Given the description of an element on the screen output the (x, y) to click on. 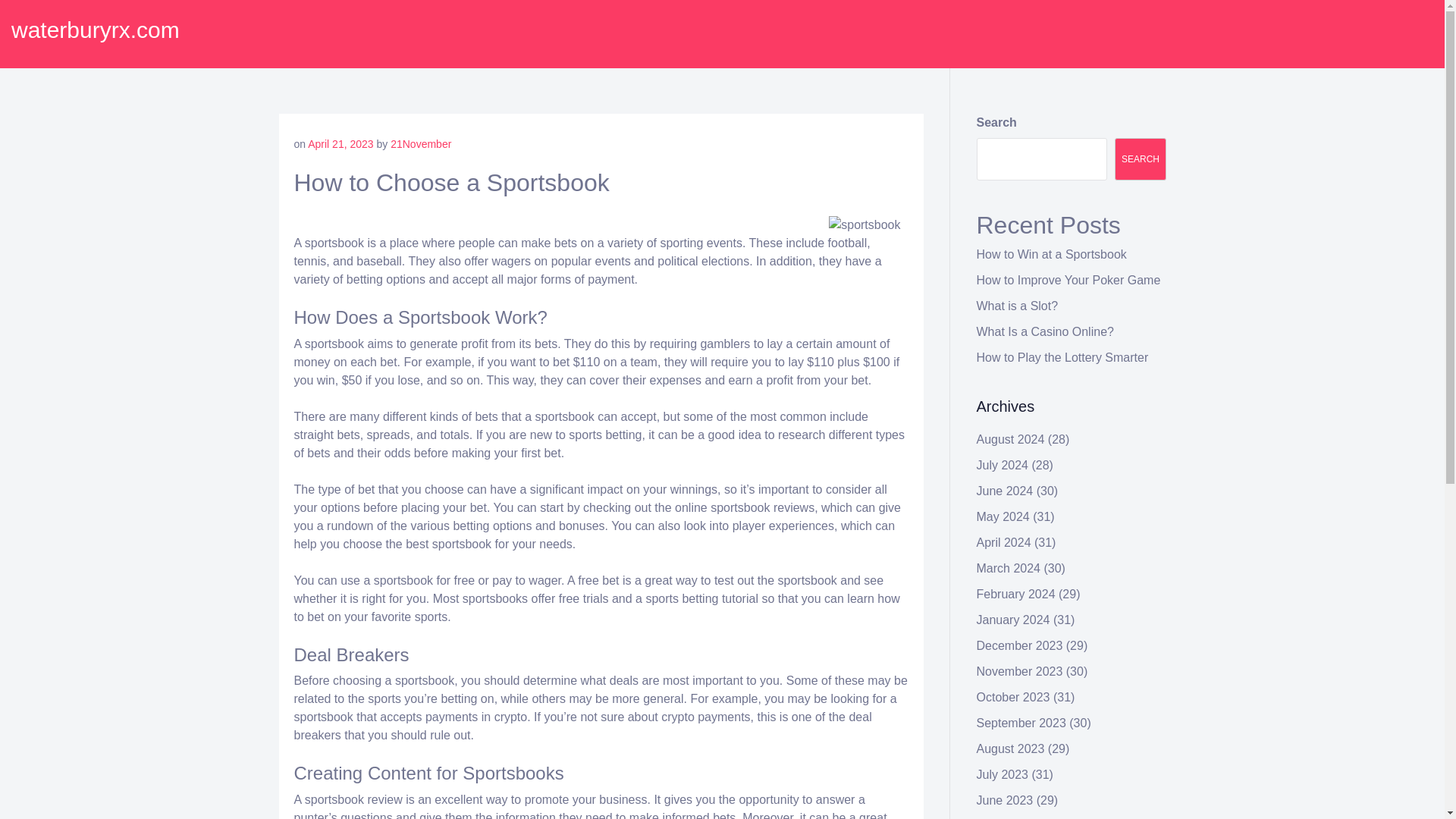
January 2024 (1012, 619)
July 2024 (1002, 464)
waterburyrx.com (95, 29)
August 2024 (1010, 439)
October 2023 (1012, 697)
How to Improve Your Poker Game (1068, 279)
SEARCH (1140, 159)
How to Win at a Sportsbook (1051, 254)
May 2024 (1002, 516)
April 21, 2023 (339, 143)
